Given the description of an element on the screen output the (x, y) to click on. 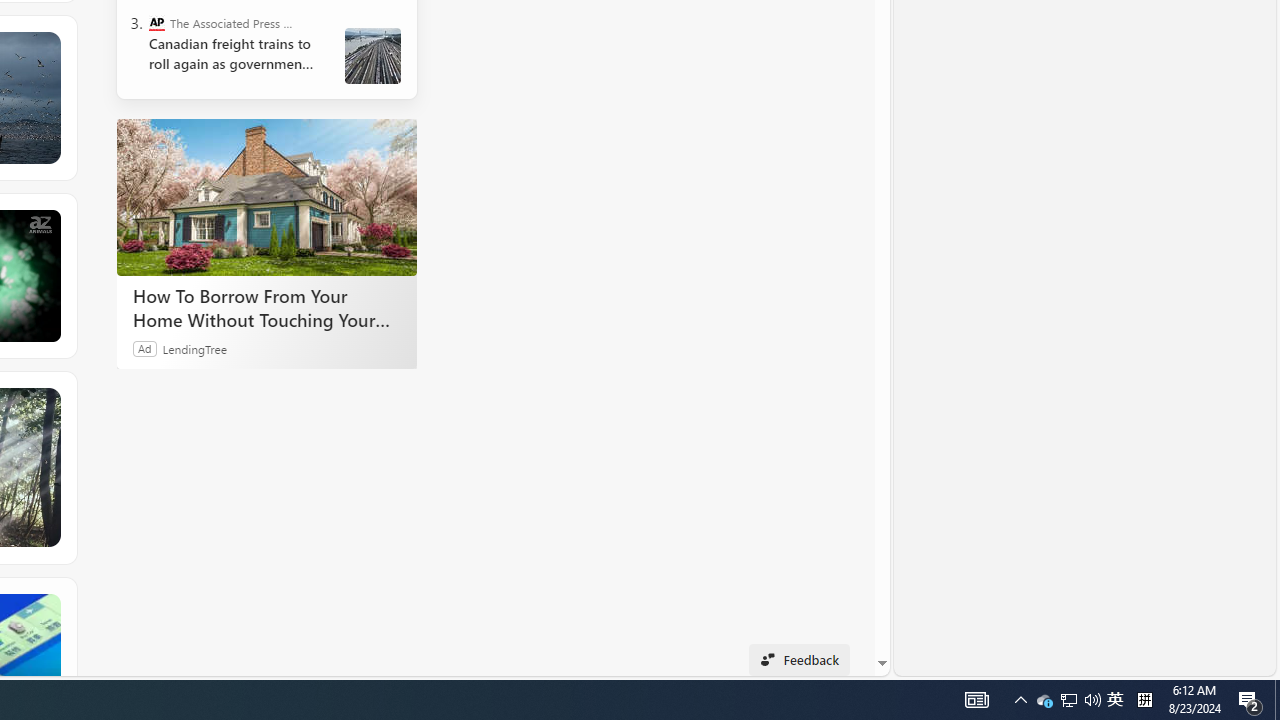
 Canada Railroads Unions (372, 56)
The Associated Press - Business News (156, 22)
LendingTree (194, 348)
